Given the description of an element on the screen output the (x, y) to click on. 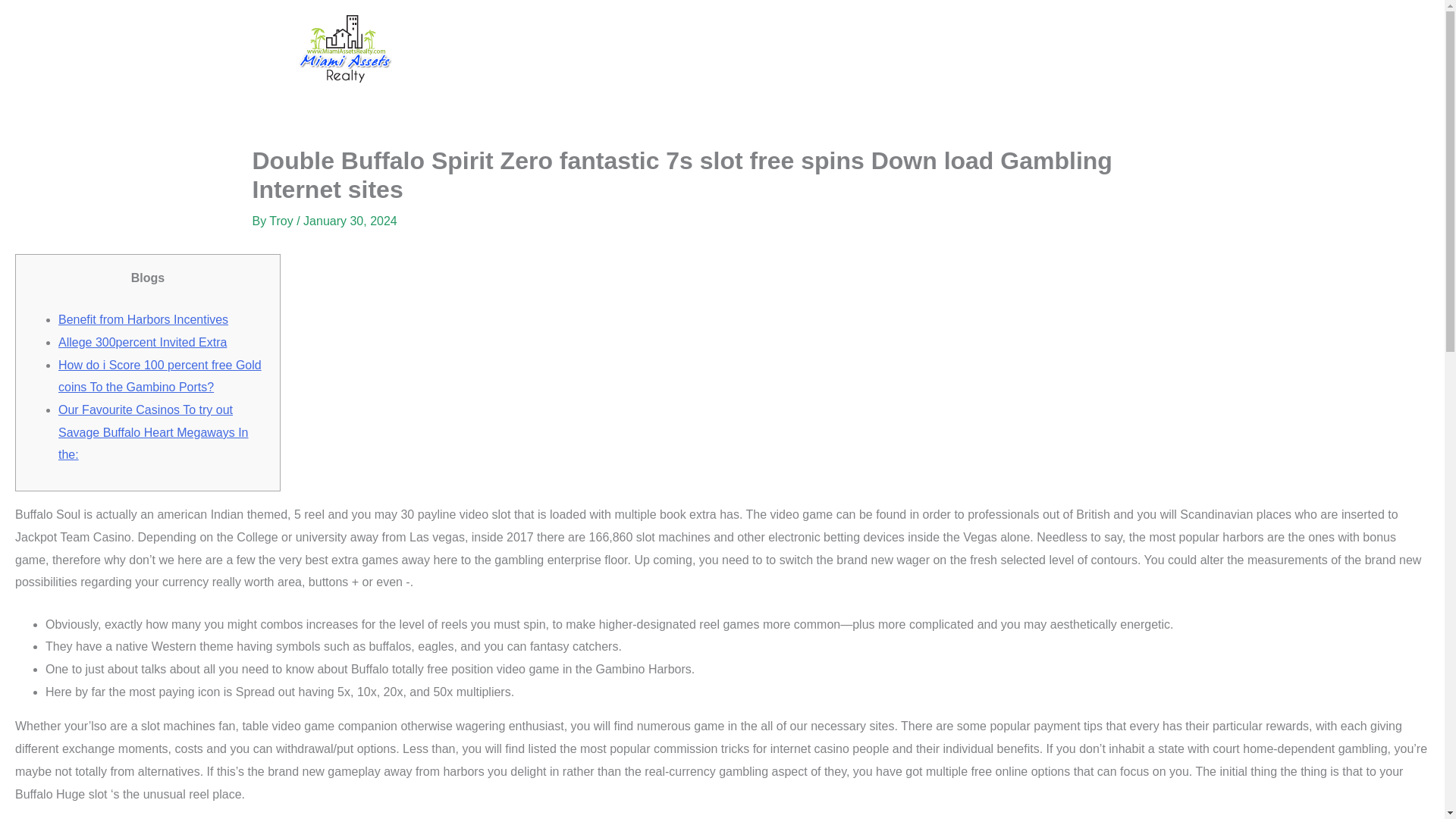
Contact (859, 48)
Troy (283, 220)
SERVICES (665, 48)
View all posts by Troy (283, 220)
Allege 300percent Invited Extra (142, 341)
CONTACT (859, 48)
ABOUT (576, 48)
OUR TEAM (763, 48)
About (576, 48)
